Given the description of an element on the screen output the (x, y) to click on. 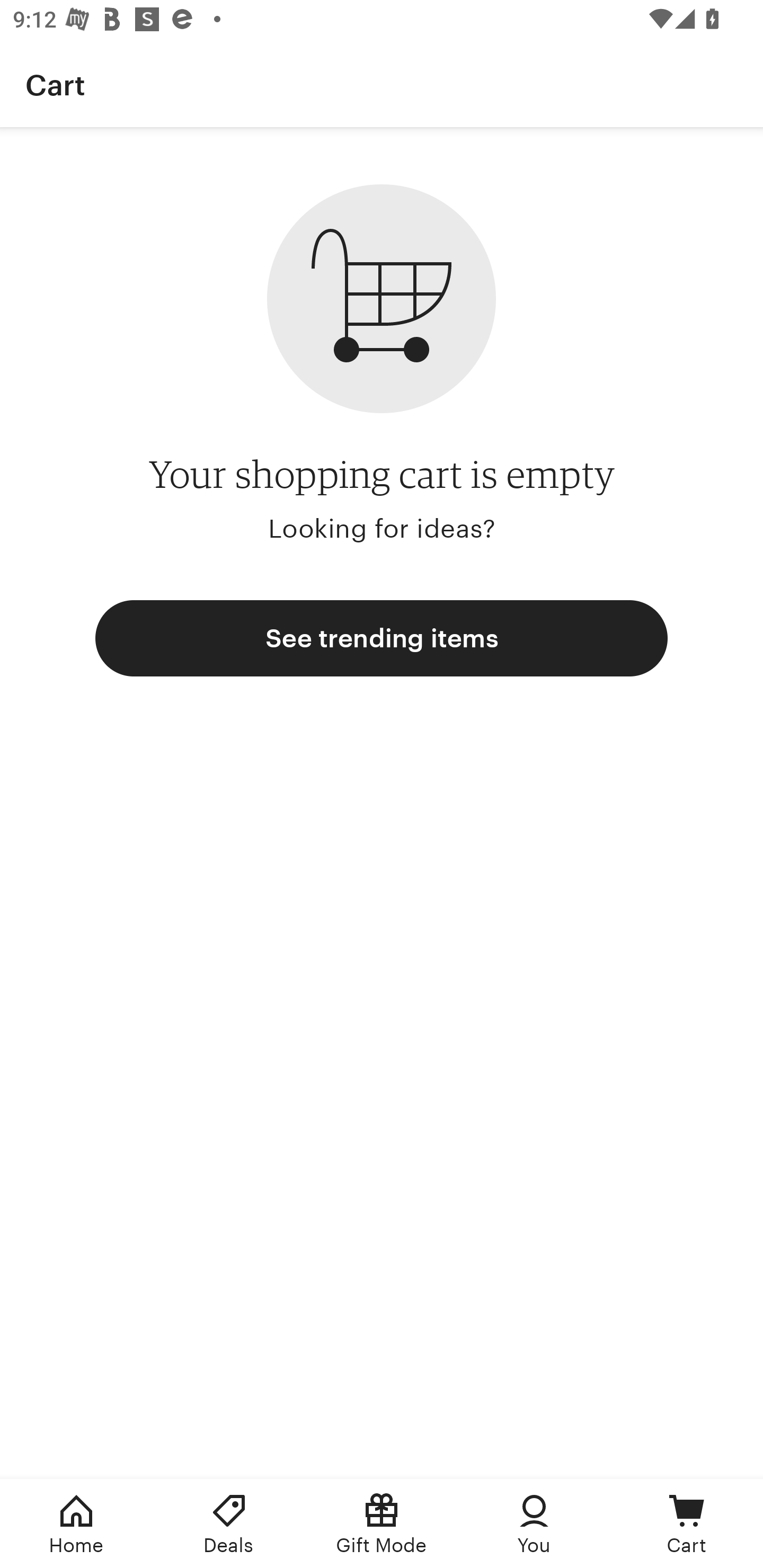
See trending items (381, 637)
Home (76, 1523)
Deals (228, 1523)
Gift Mode (381, 1523)
You (533, 1523)
